Given the description of an element on the screen output the (x, y) to click on. 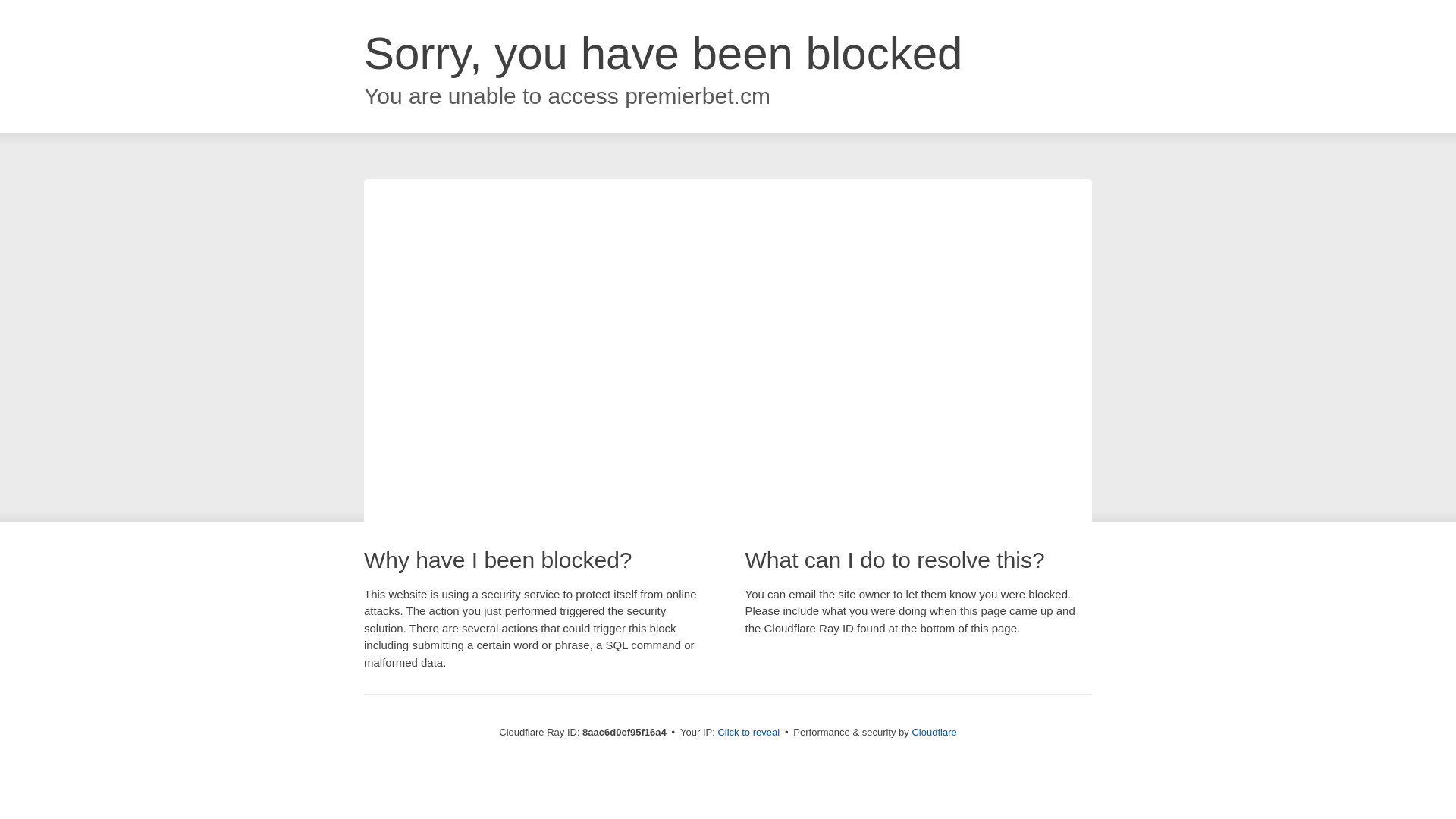
Cloudflare (933, 731)
Click to reveal (747, 732)
